Given the description of an element on the screen output the (x, y) to click on. 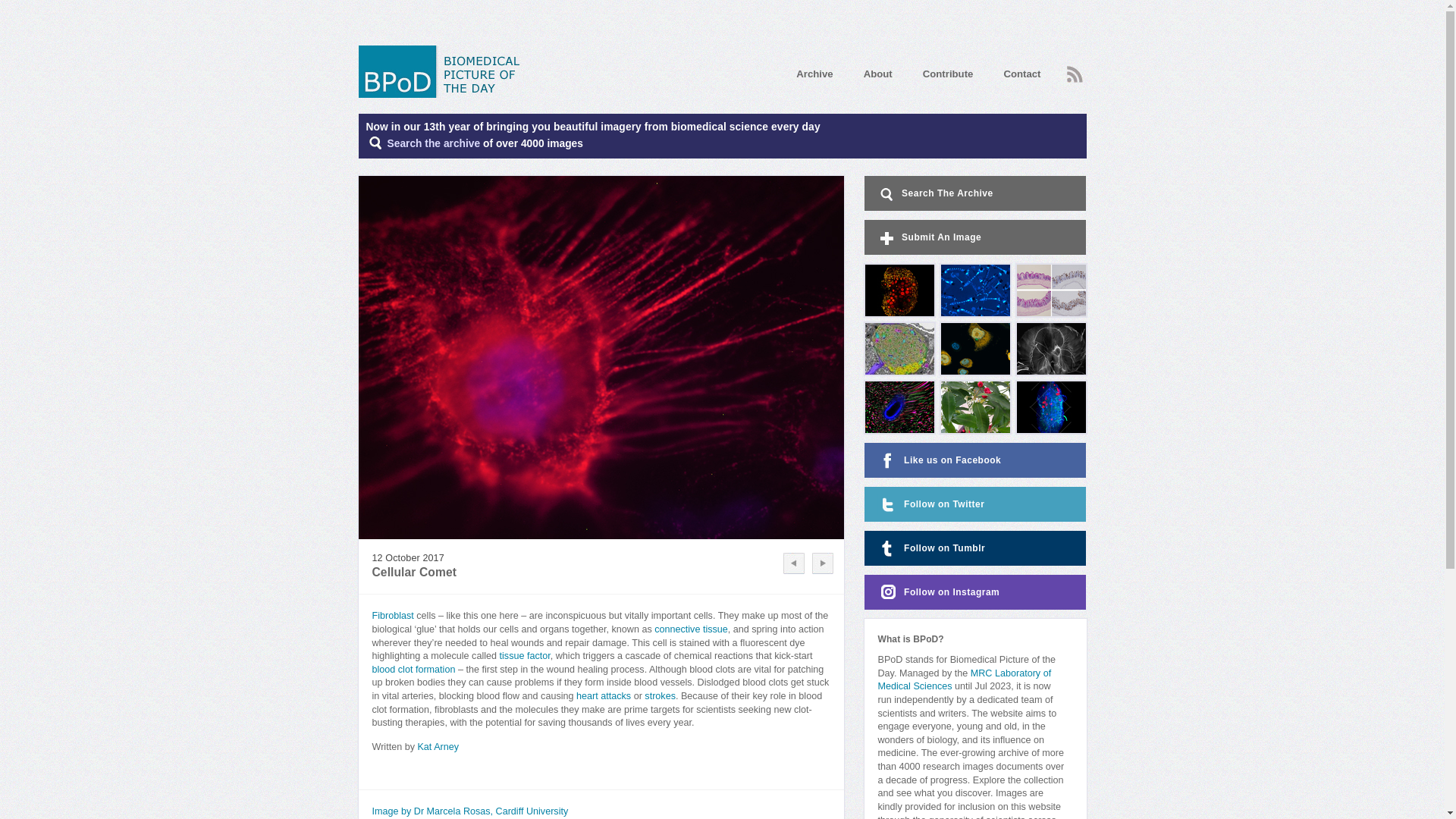
Contribute (948, 73)
About (877, 73)
Search The Archive (433, 143)
Search the archive (433, 143)
Submit An Image (975, 237)
strokes (660, 696)
Image by Dr Marcela Rosas, Cardiff University (469, 810)
Follow on Twitter (975, 503)
Fibroblast (392, 615)
Search The Archive (975, 193)
Search The Archive (975, 193)
Archive (814, 73)
About this author (437, 747)
Like us on Facebook (975, 460)
blood clot formation (412, 669)
